Given the description of an element on the screen output the (x, y) to click on. 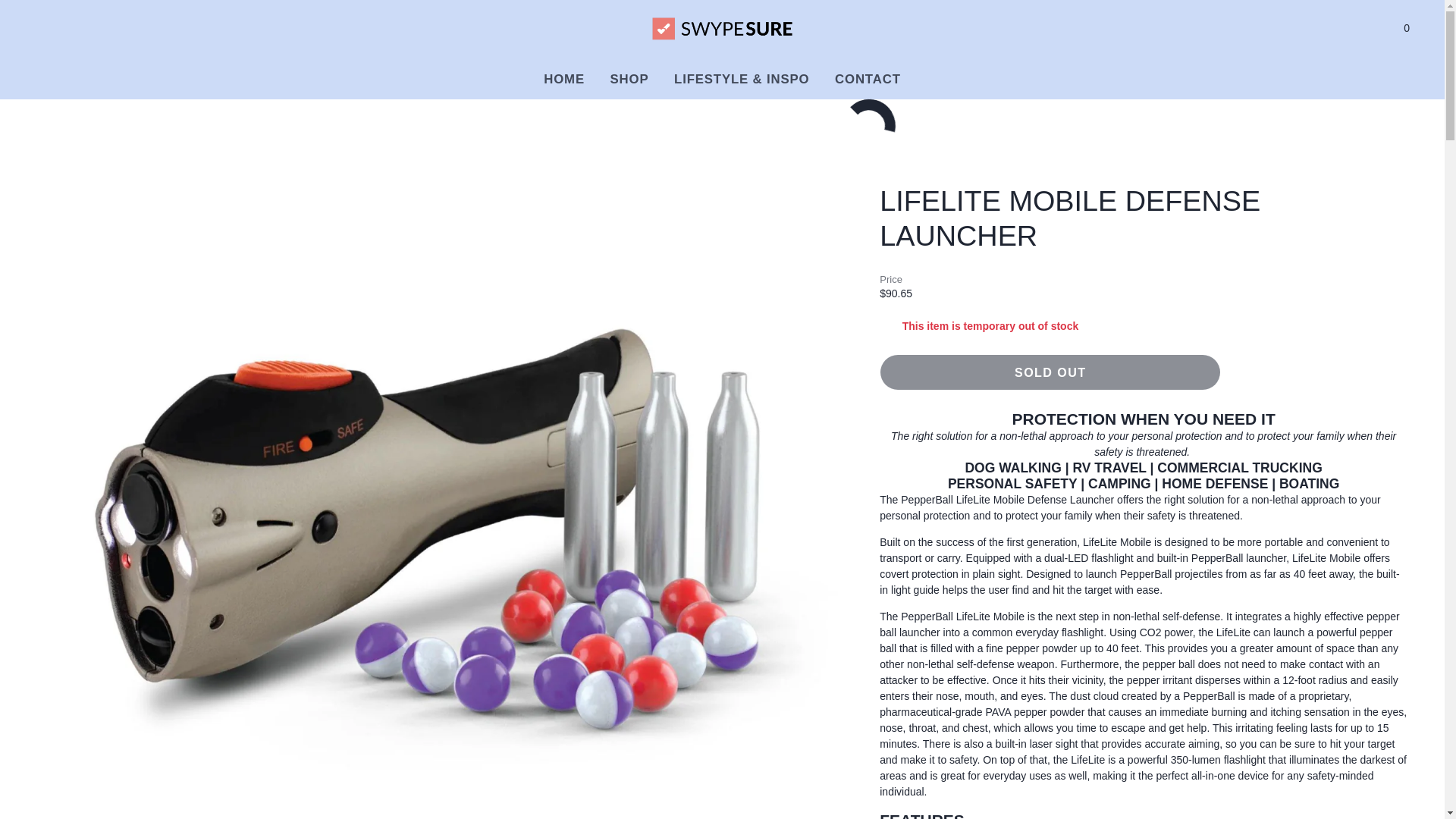
SOLD OUT (1050, 372)
LOG IN (1415, 28)
HOME (1381, 28)
SHOP (563, 78)
CONTACT (629, 78)
